Given the description of an element on the screen output the (x, y) to click on. 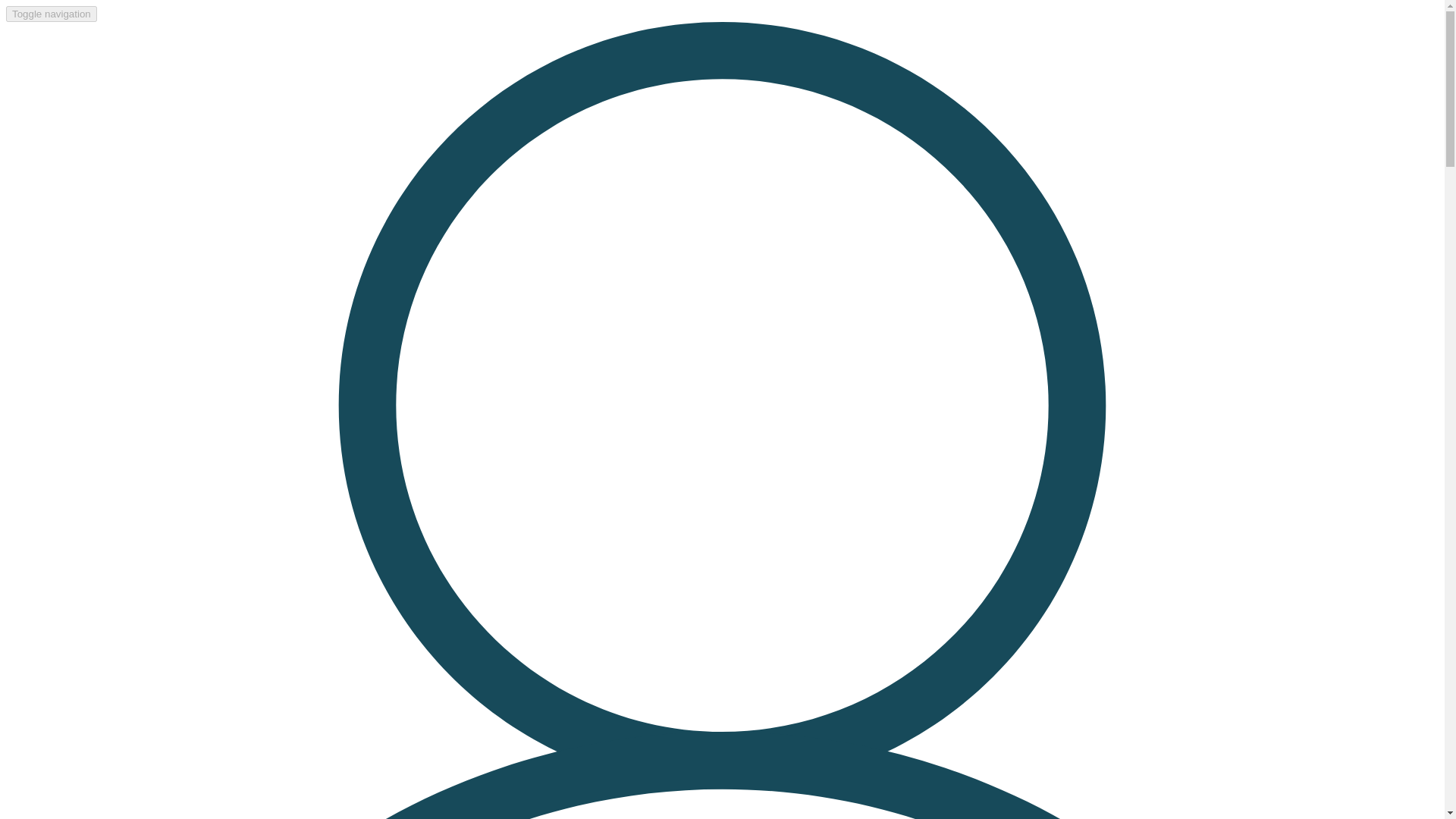
Toggle navigation (51, 13)
